Given the description of an element on the screen output the (x, y) to click on. 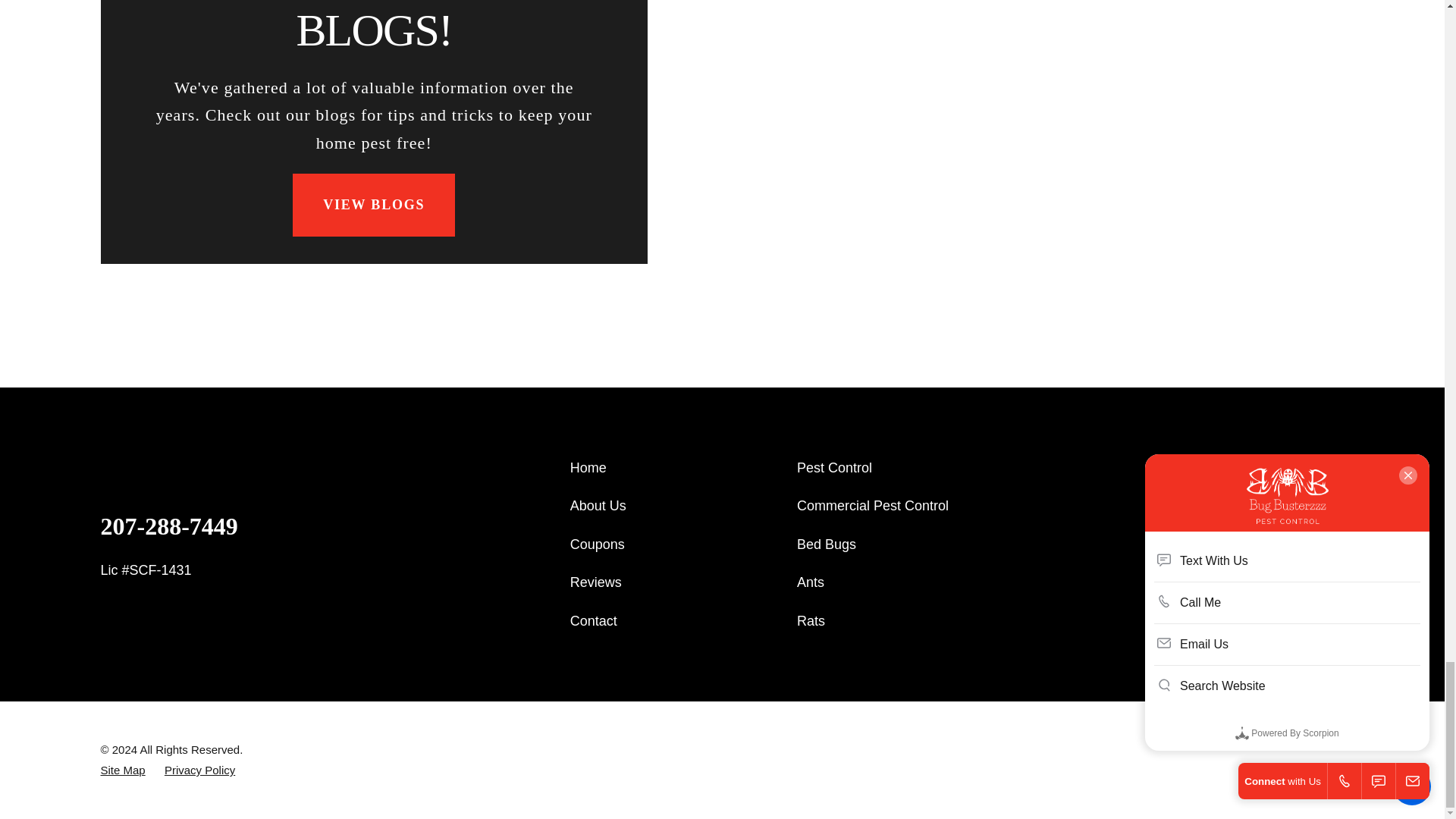
Google Business Profile (1256, 532)
Facebook (1225, 532)
Angie's List (1196, 532)
Twitter (1286, 532)
